Given the description of an element on the screen output the (x, y) to click on. 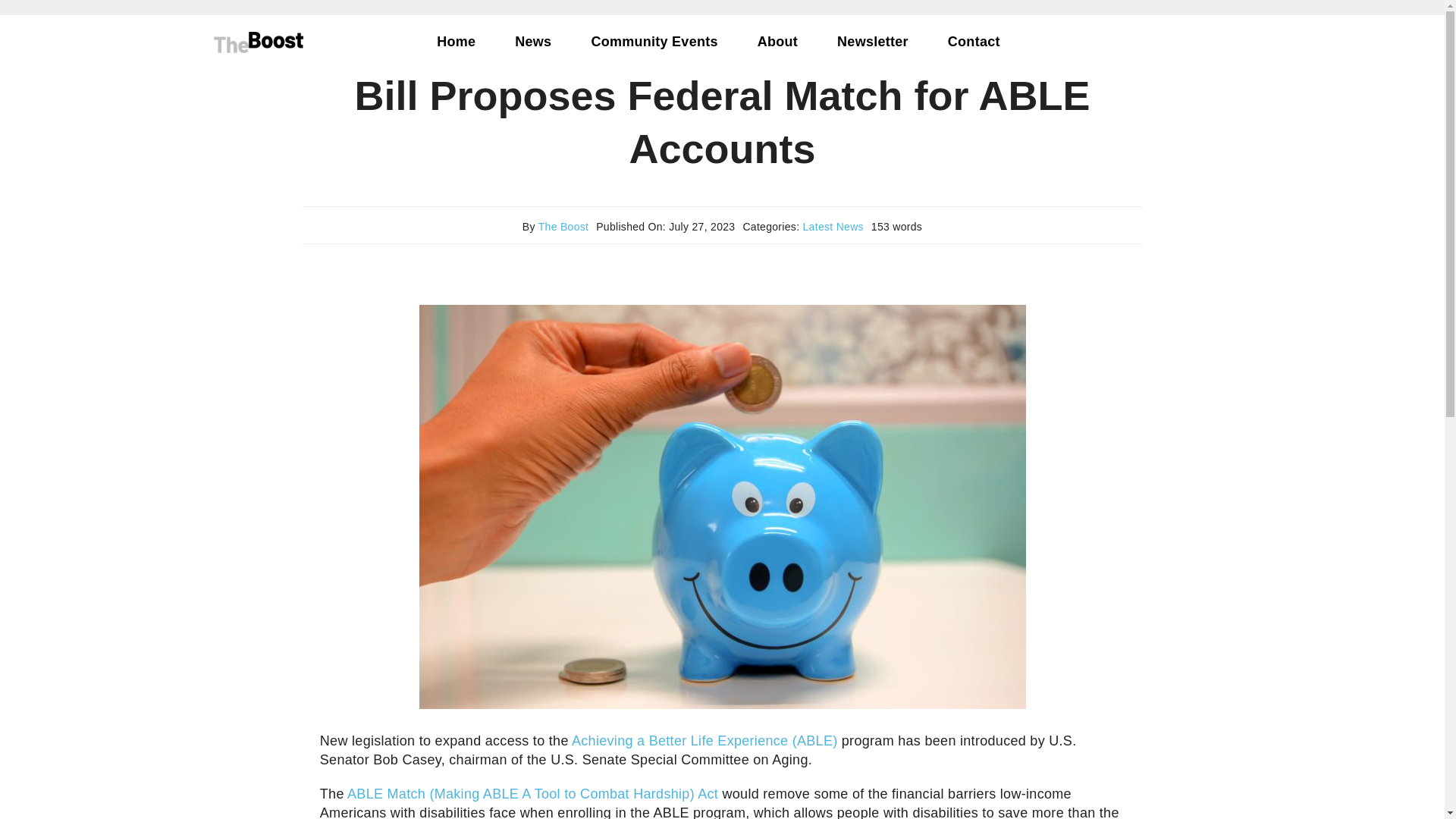
Home (455, 41)
Contact (973, 41)
News (532, 41)
About (777, 41)
Posts by The Boost (563, 226)
The Boost (563, 226)
Newsletter (872, 41)
Community Events (654, 41)
Latest News (833, 226)
